Given the description of an element on the screen output the (x, y) to click on. 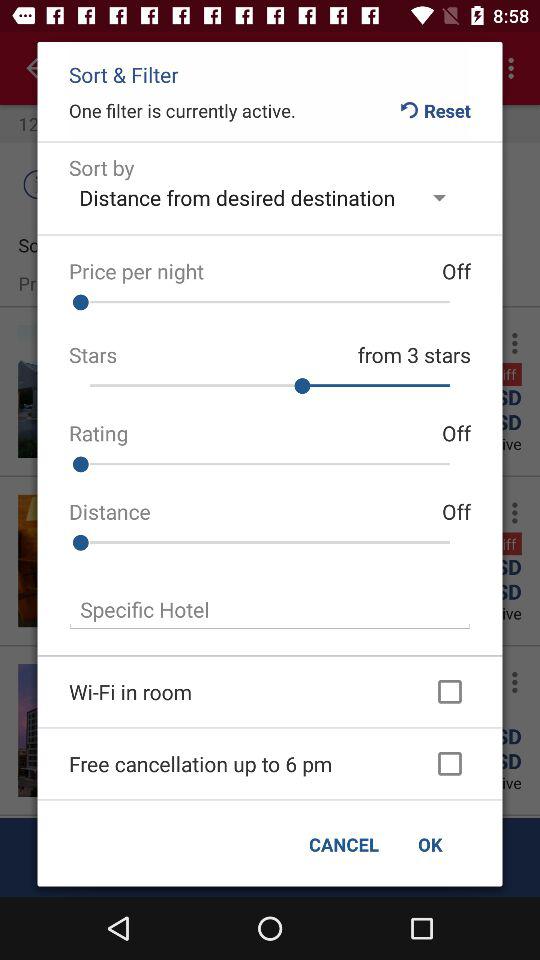
input text (270, 609)
